Given the description of an element on the screen output the (x, y) to click on. 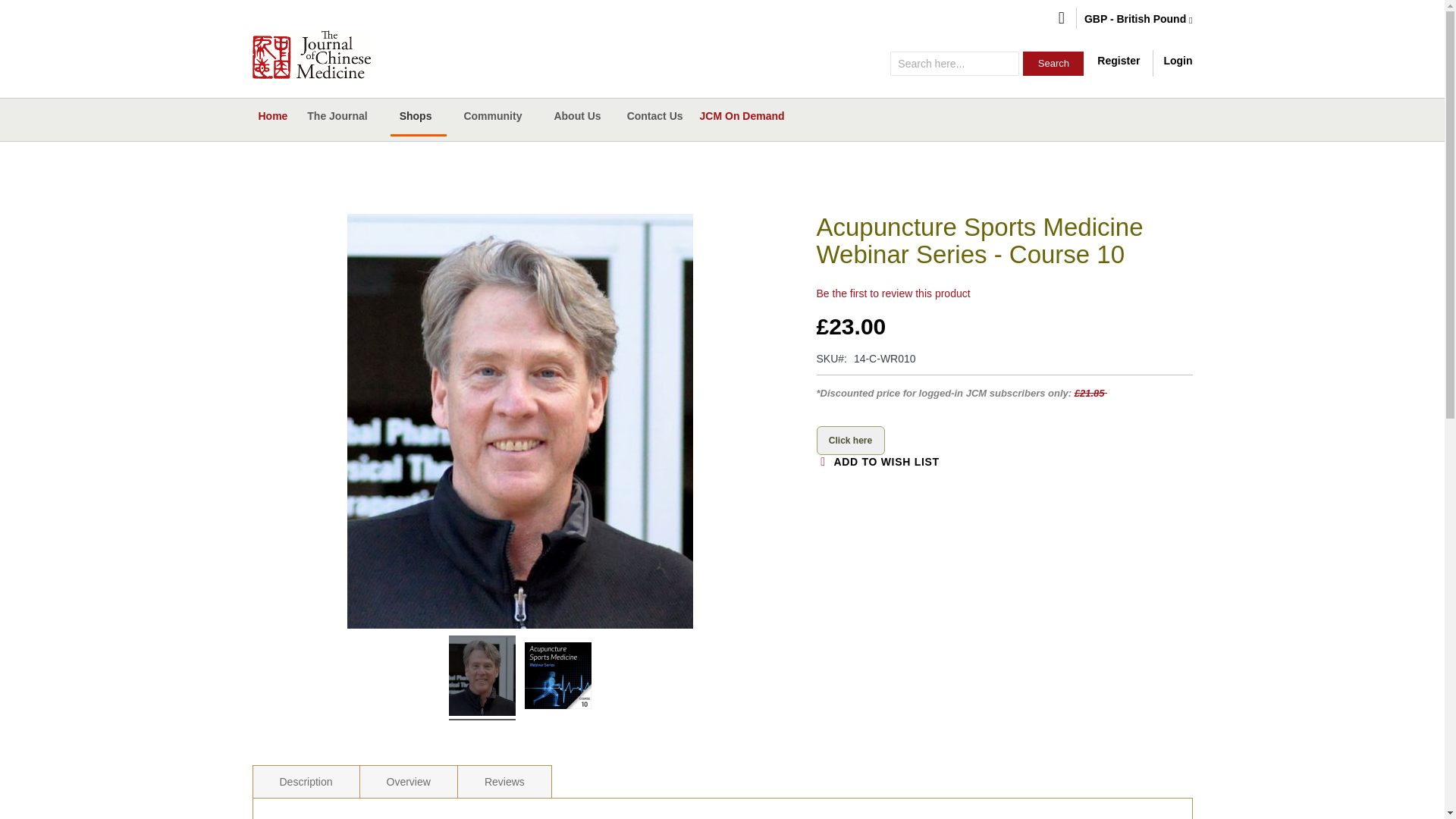
Journal of Chinese Medicine (310, 54)
Home (271, 115)
Register (1118, 60)
Login (1177, 60)
Search (1053, 63)
Click here (849, 440)
 Acupuncture Sports Medicine Webinar Series - Course 10 (557, 677)
Search (1053, 63)
The Journal (339, 116)
